Given the description of an element on the screen output the (x, y) to click on. 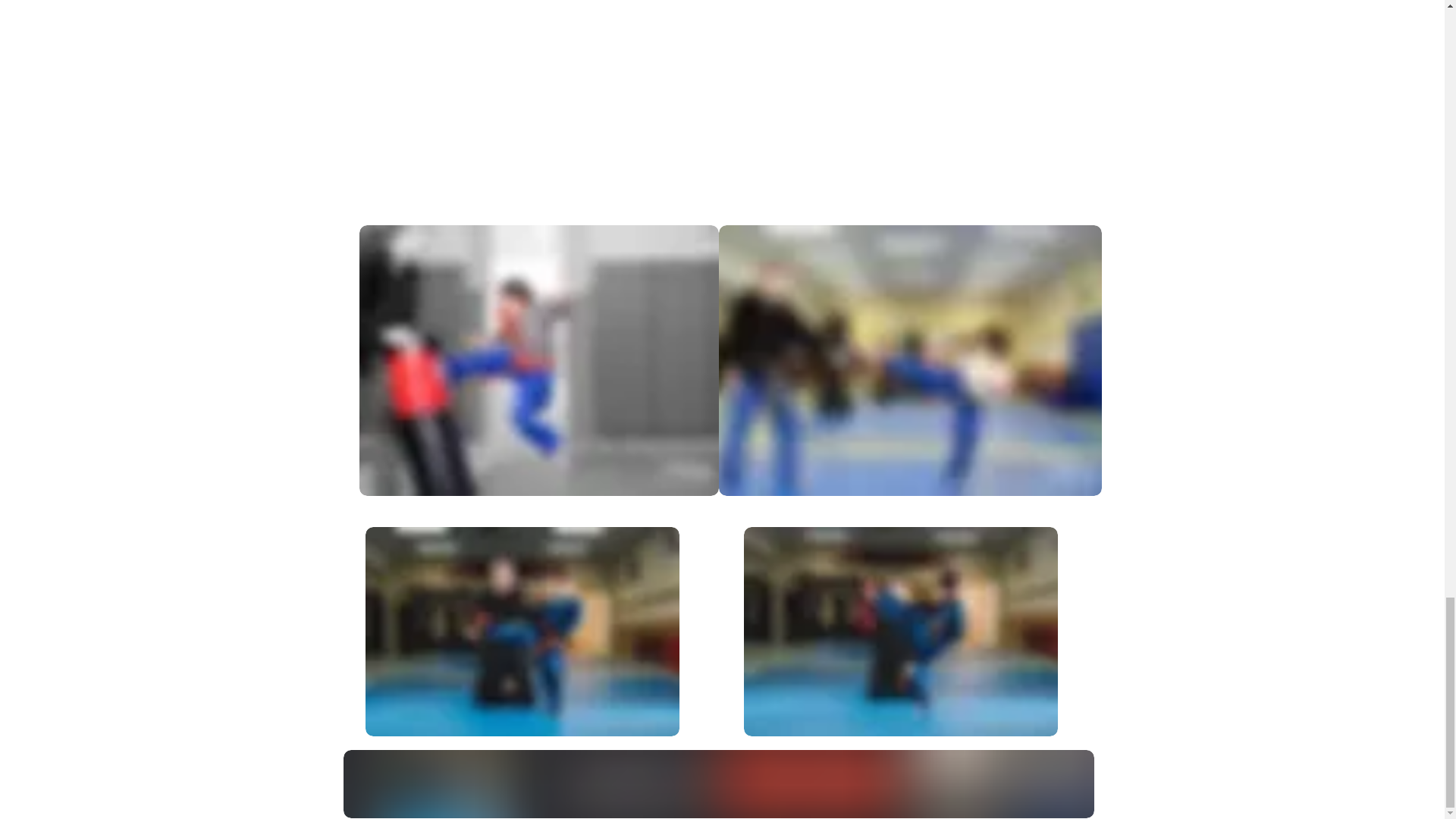
External YouTube (727, 109)
Embedded Content (410, 592)
